Given the description of an element on the screen output the (x, y) to click on. 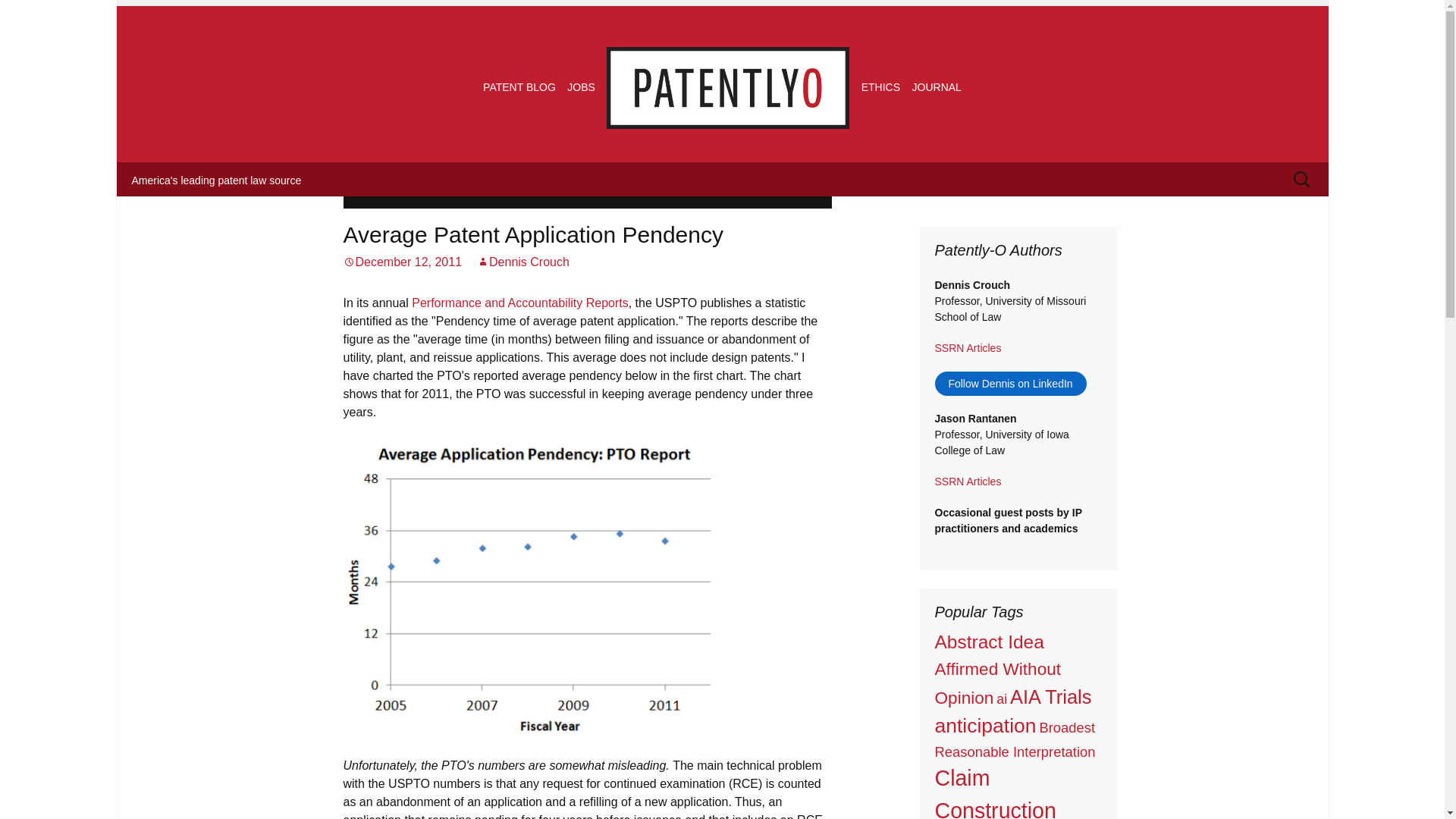
JOURNAL (936, 87)
Search (37, 15)
SSRN Articles (967, 481)
Performance and Accountability Reports (519, 302)
December 12, 2011 (401, 261)
Patent Law Journal from Patently-O (936, 87)
SSRN Articles (967, 347)
Permalink to Average Patent Application Pendency (401, 261)
ETHICS (880, 87)
Dennis Crouch (523, 261)
